Given the description of an element on the screen output the (x, y) to click on. 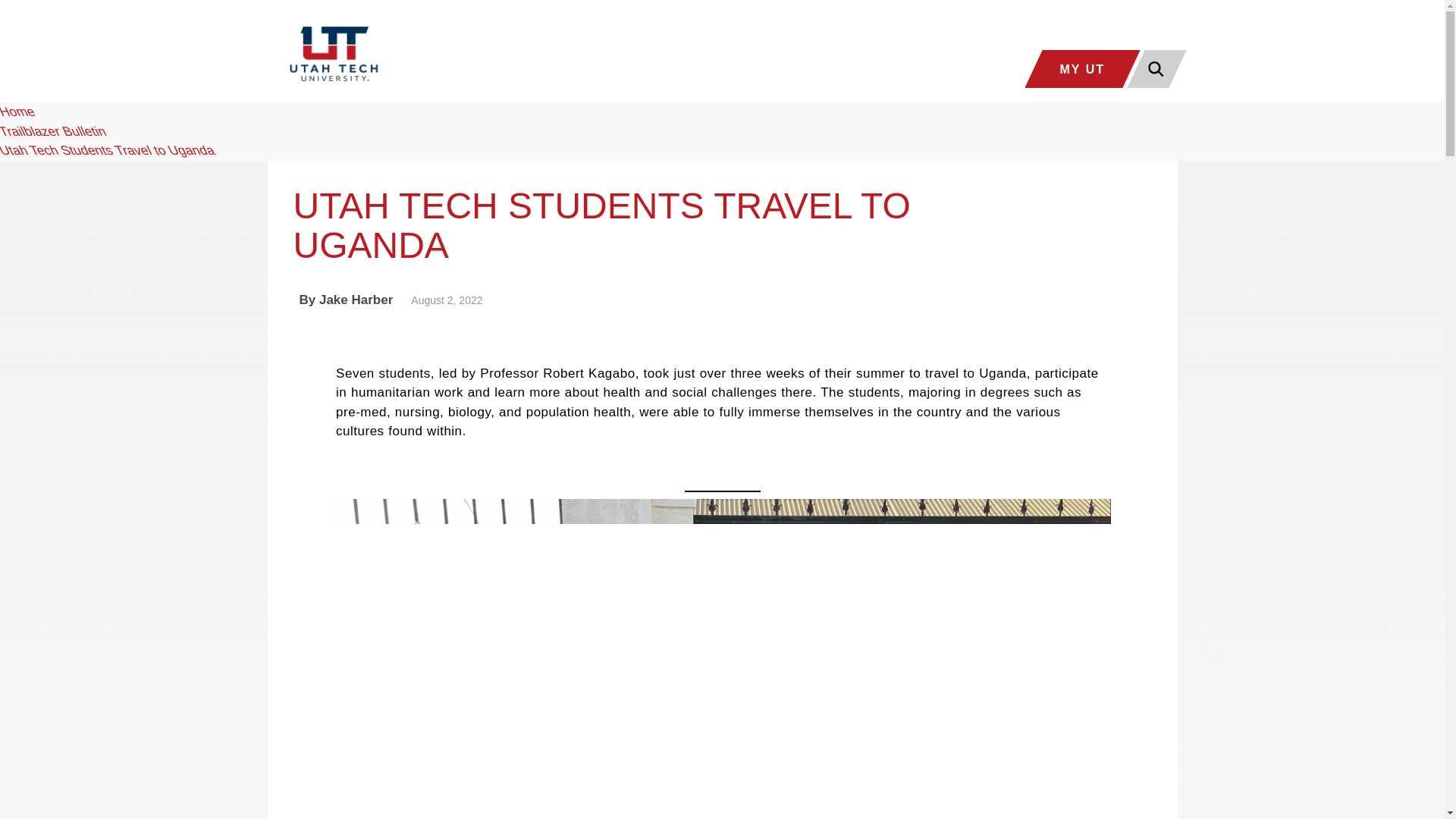
Home (16, 111)
MY UT (1073, 68)
Trailblazer Bulletin (52, 131)
Utah Tech Students Travel to Uganda (107, 150)
